Given the description of an element on the screen output the (x, y) to click on. 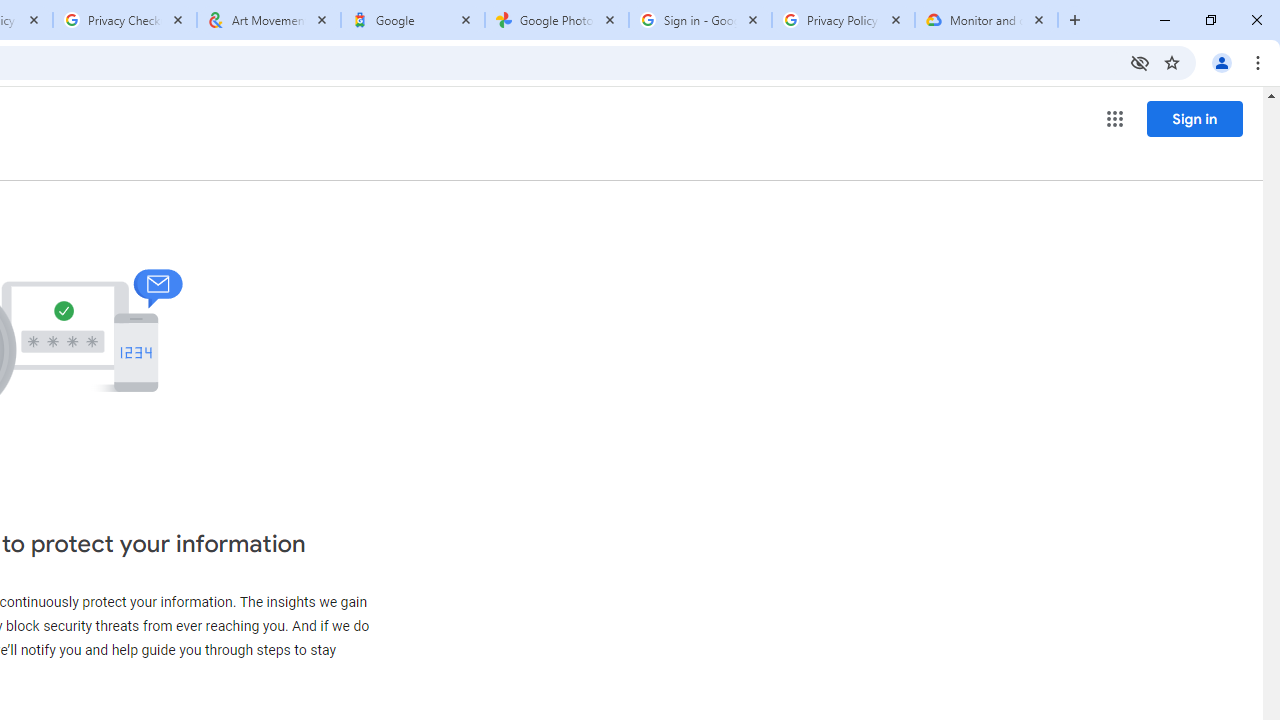
Sign in - Google Accounts (699, 20)
